Given the description of an element on the screen output the (x, y) to click on. 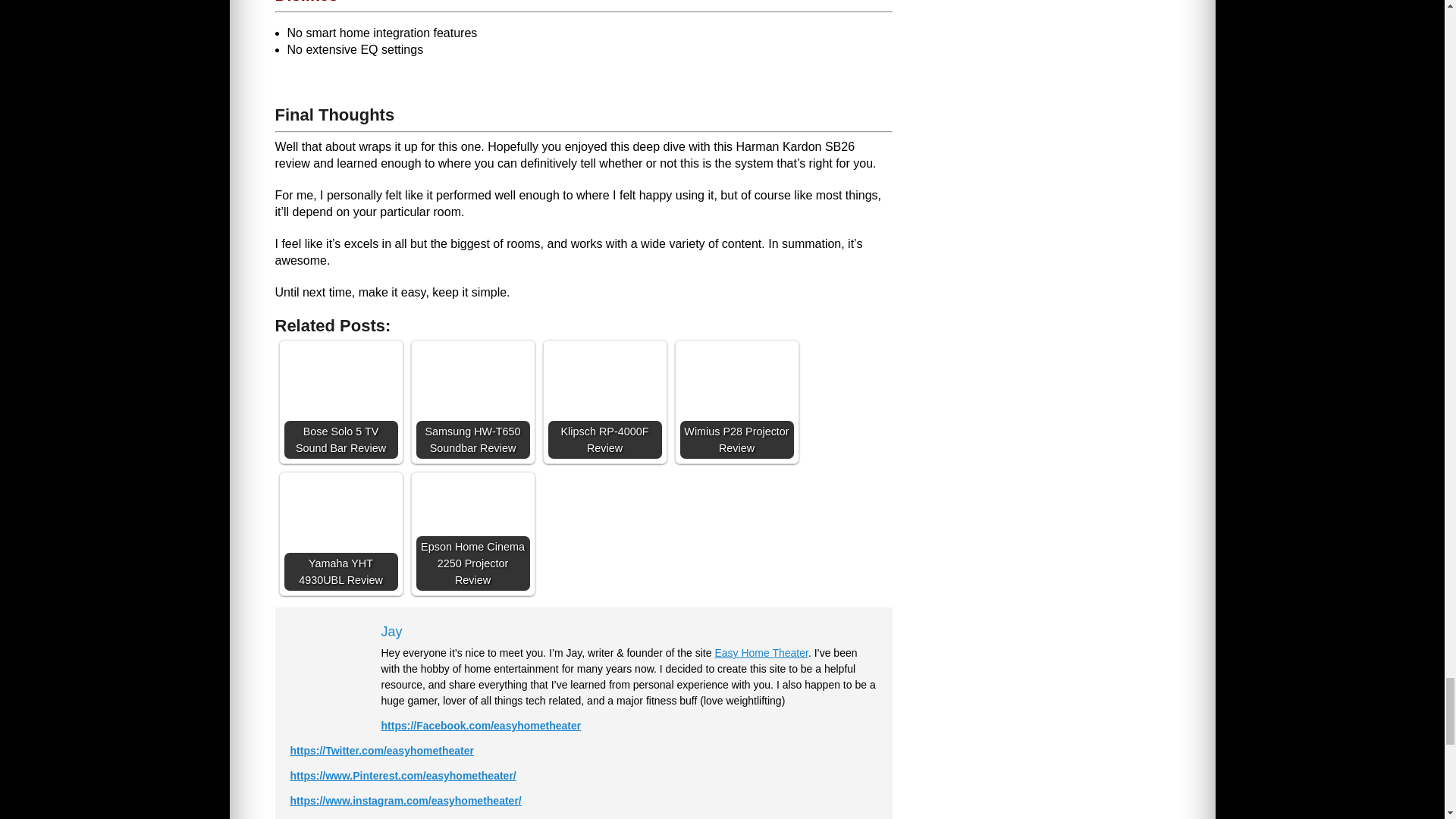
Klipsch RP-4000F Review (604, 401)
Klipsch RP-4000F Review (604, 401)
Samsung HW-T650 Soundbar Review (471, 401)
Jay (390, 631)
Samsung HW-T650 Soundbar Review (471, 401)
Wimius P28 Projector Review (736, 401)
Yamaha YHT 4930UBL Review (340, 533)
Easy Home Theater (761, 653)
Wimius P28 Projector Review (736, 401)
Epson Home Cinema 2250 Projector Review (471, 533)
